Given the description of an element on the screen output the (x, y) to click on. 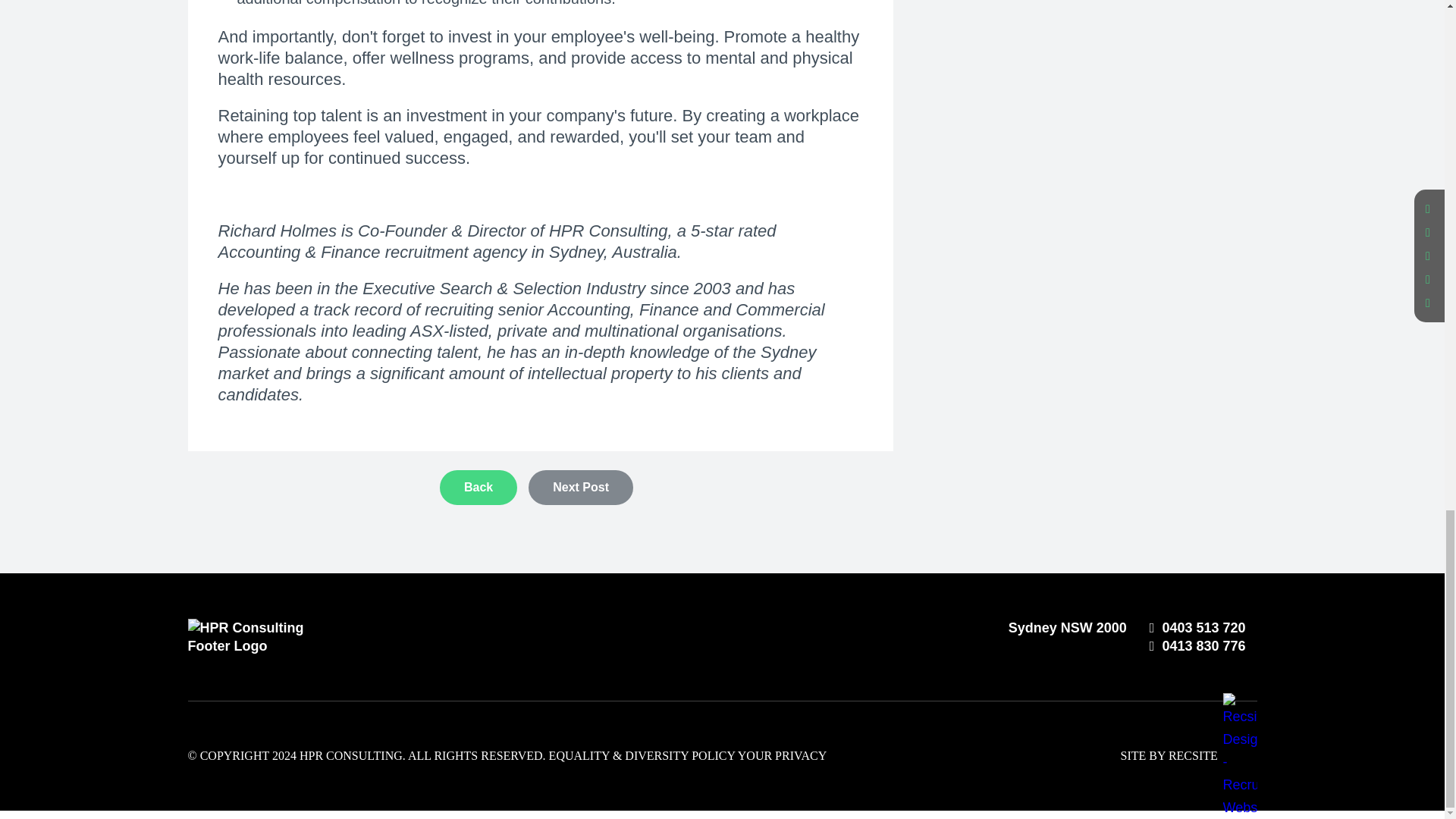
Back (477, 487)
Next Post (580, 487)
